Given the description of an element on the screen output the (x, y) to click on. 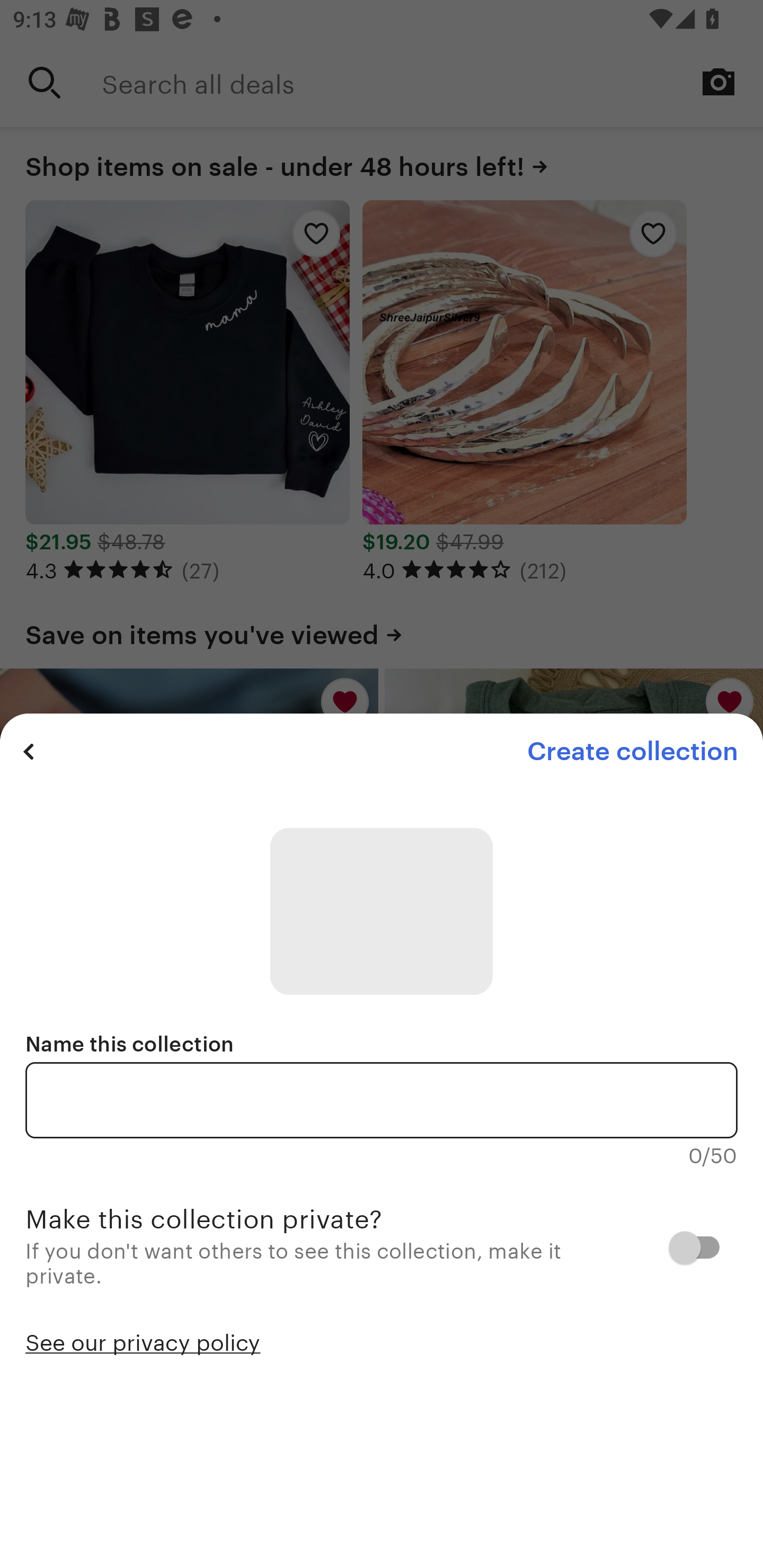
Previous (28, 751)
Create collection (632, 751)
See our privacy policy (142, 1341)
